Given the description of an element on the screen output the (x, y) to click on. 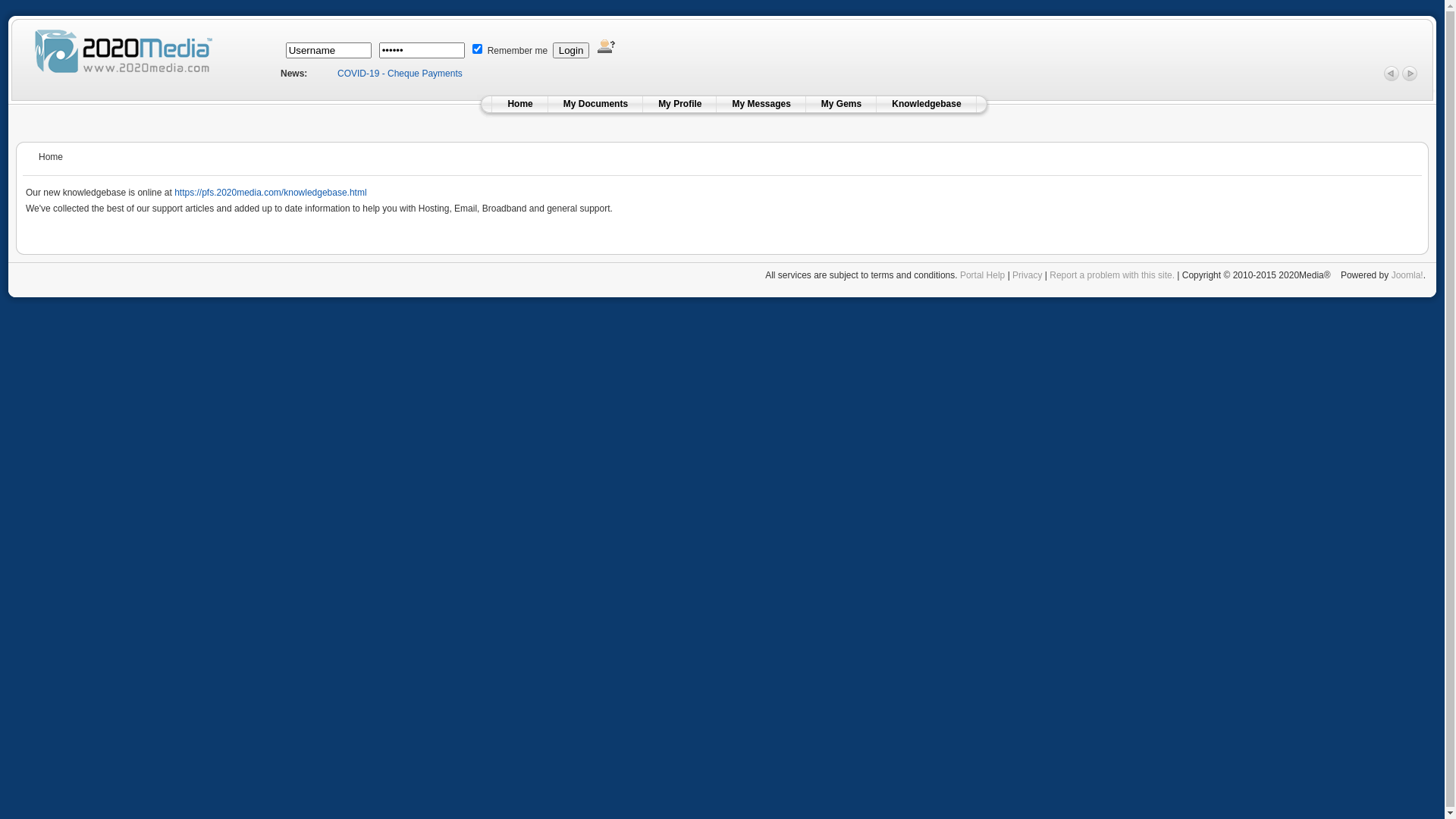
My Documents Element type: text (595, 103)
Password Element type: hover (421, 50)
My Messages Element type: text (760, 103)
Portal Help Element type: text (982, 274)
Privacy Element type: text (1026, 274)
https://pfs.2020media.com/knowledgebase.html Element type: text (270, 192)
Knowledgebase Element type: text (925, 103)
My Gems Element type: text (841, 103)
Login reminder Element type: hover (605, 45)
Home Element type: text (519, 103)
Username Element type: hover (328, 50)
COVID-19 - Cheque Payments Element type: text (399, 73)
My Profile Element type: text (679, 103)
Joomla! Element type: text (1407, 274)
Login Element type: text (570, 50)
Report a problem with this site. Element type: text (1111, 274)
